Given the description of an element on the screen output the (x, y) to click on. 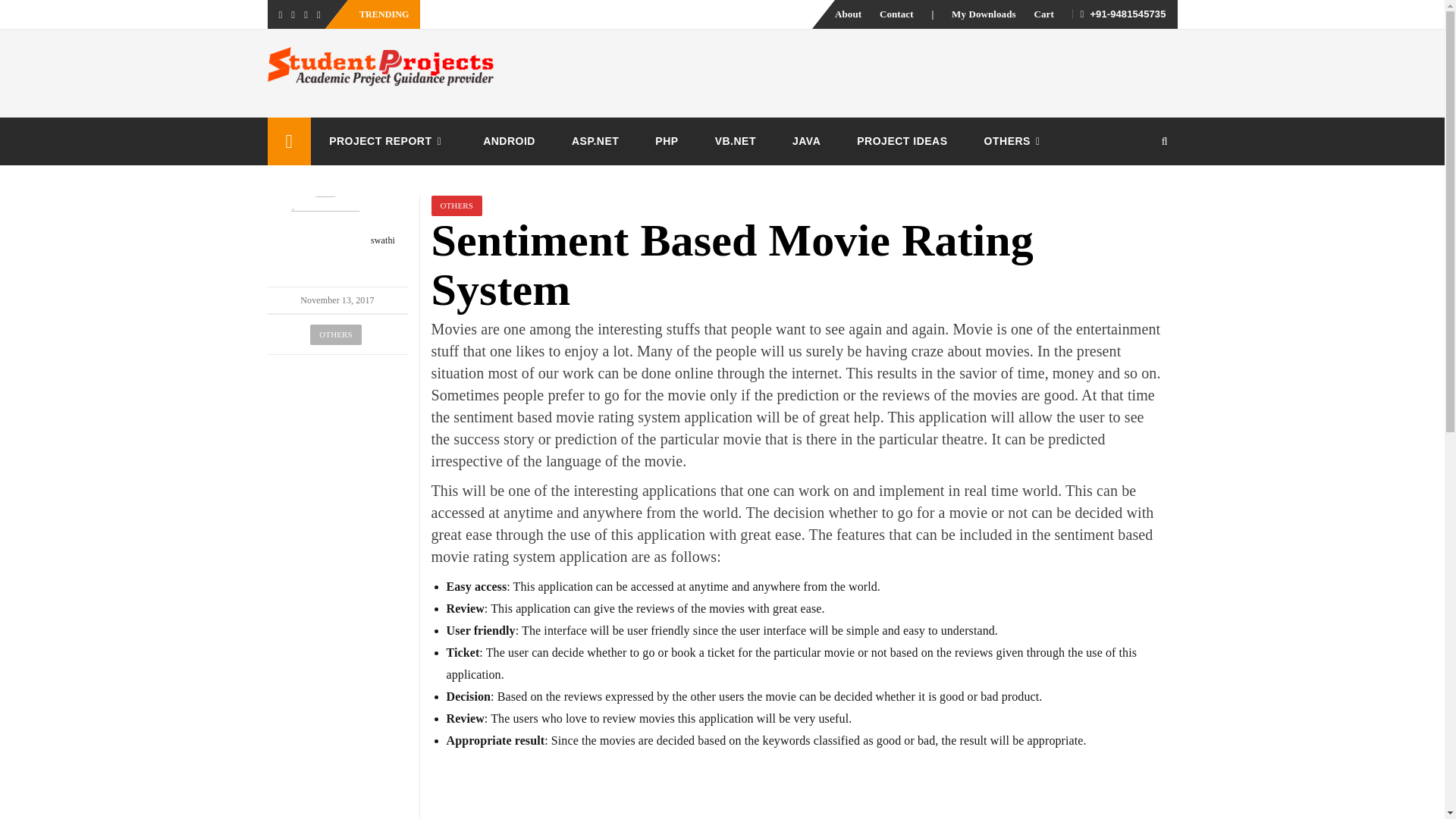
ANDROID (508, 140)
Contact (896, 13)
OTHERS (1015, 141)
JAVA (806, 140)
Cart (1042, 13)
My Downloads (984, 13)
PROJECT IDEAS (901, 140)
PROJECT REPORT (387, 141)
About (847, 13)
PHP (666, 140)
ASP.NET (595, 140)
VB.NET (735, 140)
